Given the description of an element on the screen output the (x, y) to click on. 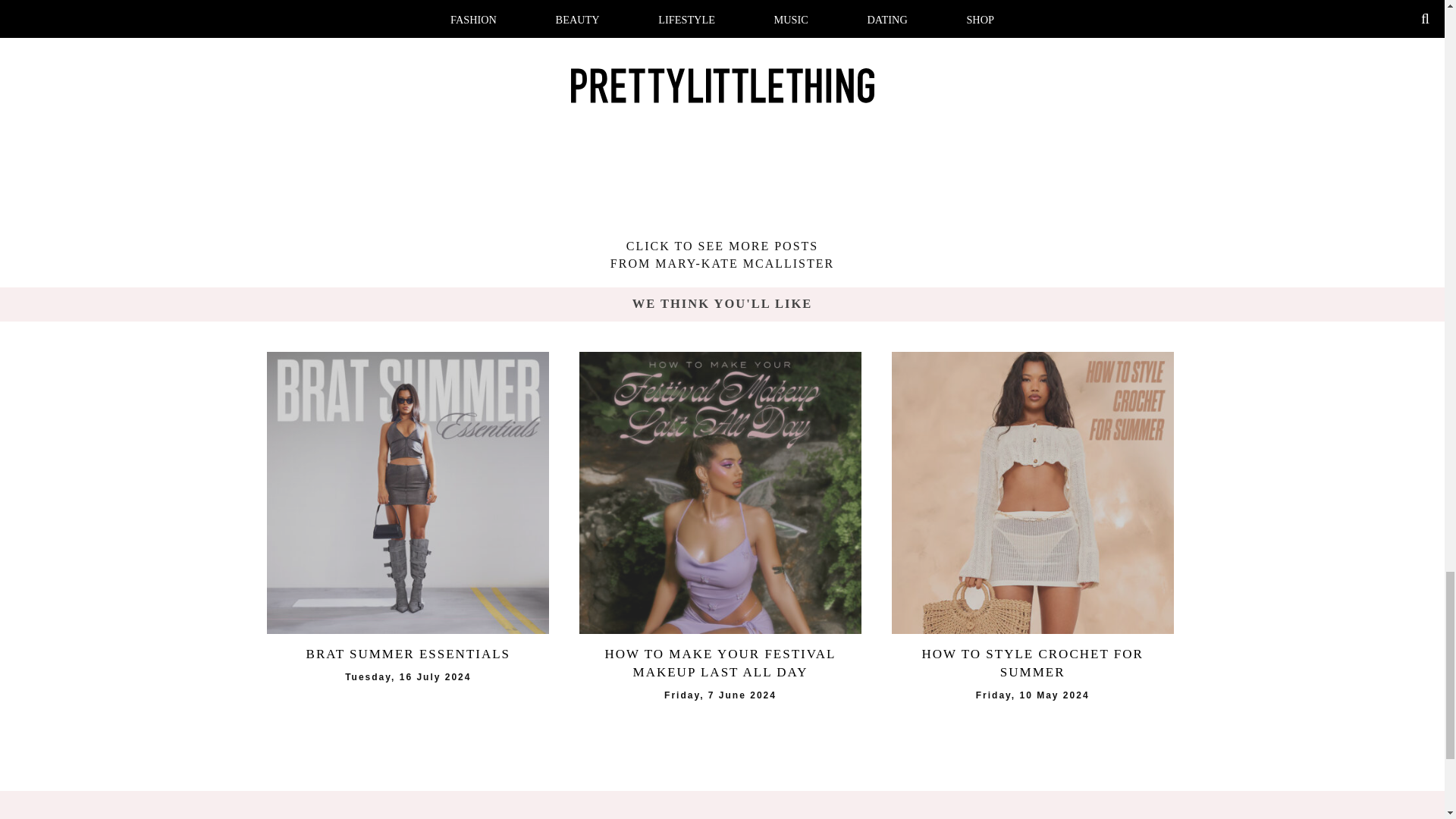
Brat Summer Essentials (407, 492)
How To Make Your Festival Makeup Last All Day (720, 492)
HOW TO STYLE CROCHET FOR SUMMER (1032, 663)
How To Style Crochet For Summer (1032, 492)
HOW TO MAKE YOUR FESTIVAL MAKEUP LAST ALL DAY (720, 663)
BRAT SUMMER ESSENTIALS (407, 654)
PRETTYLITTLETHING.COM (751, 816)
BACK TO ALL POSTS (312, 19)
